Given the description of an element on the screen output the (x, y) to click on. 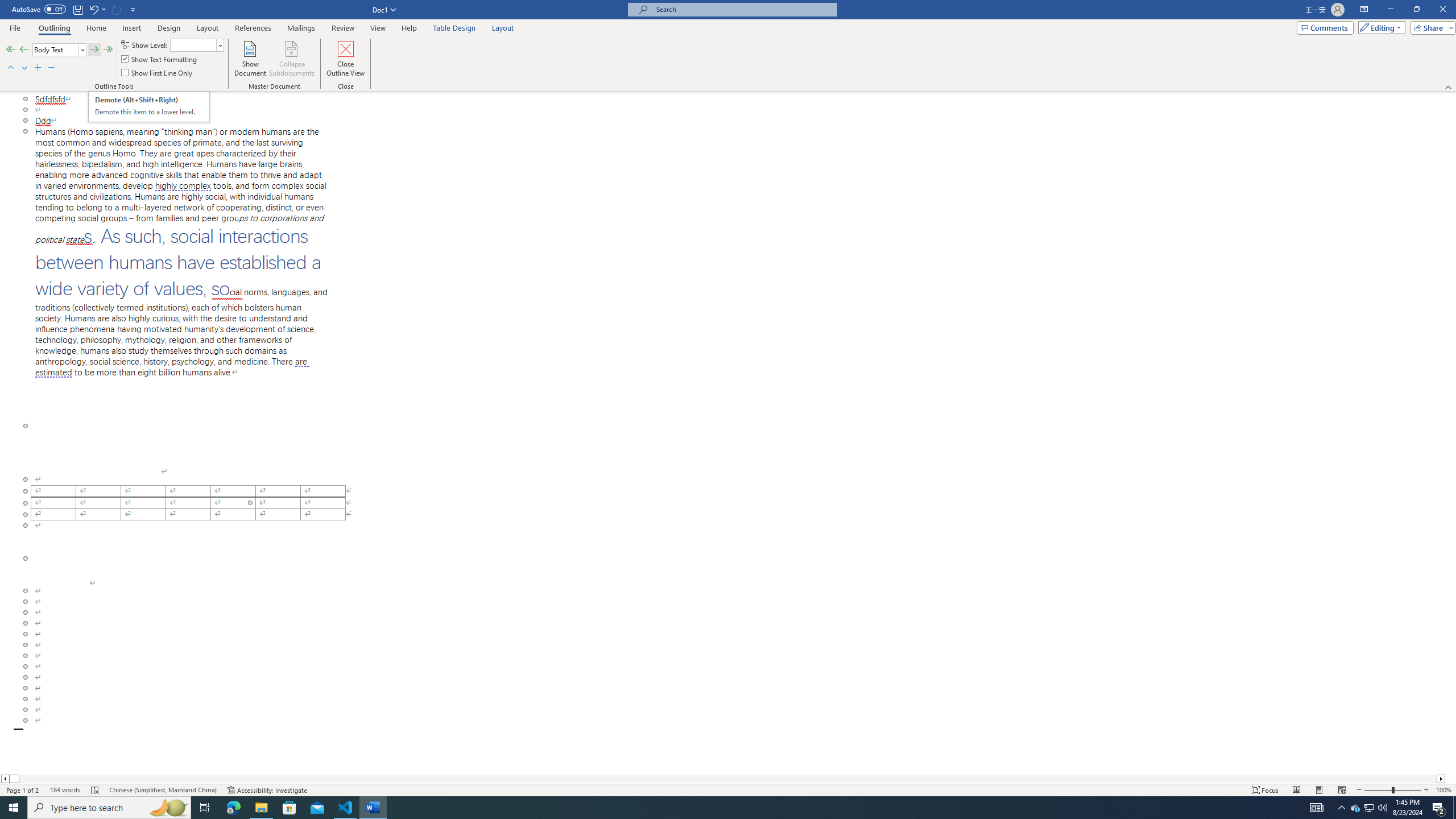
Expand (37, 67)
Collapse Subdocuments (291, 58)
Close Outline View (345, 58)
